Given the description of an element on the screen output the (x, y) to click on. 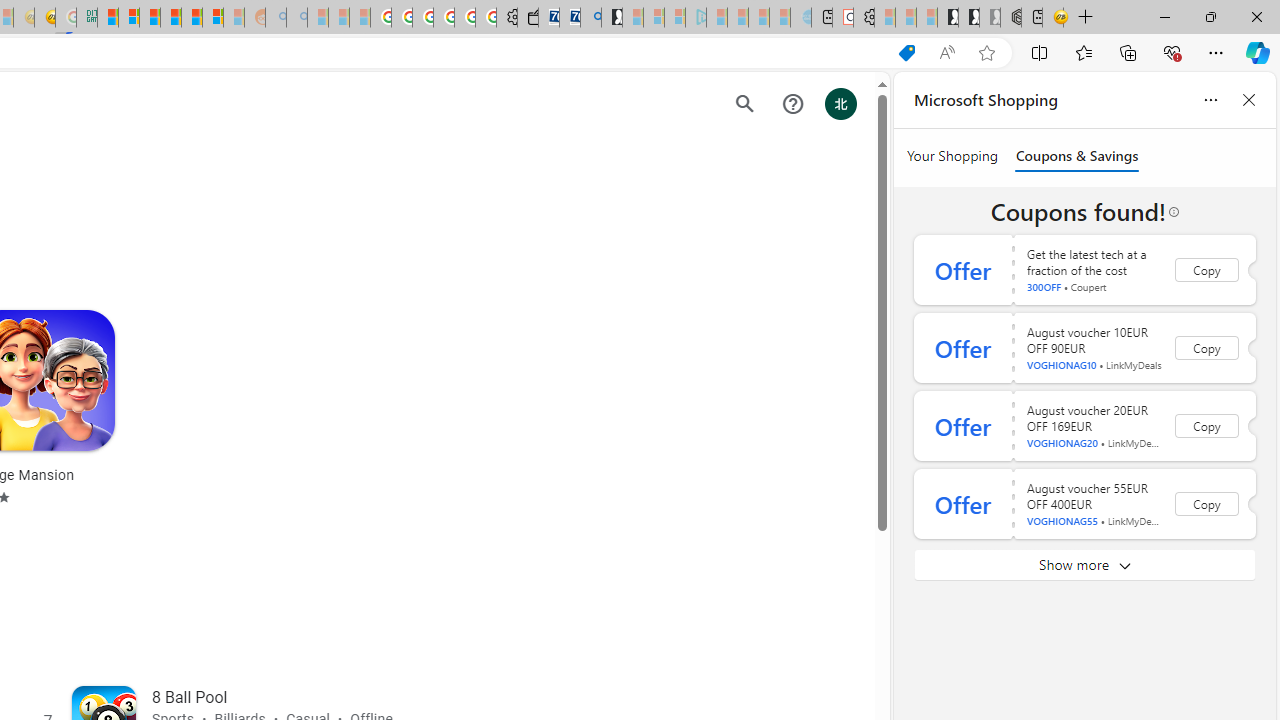
MSNBC - MSN (107, 17)
Microsoft account | Privacy (129, 17)
Expert Portfolios (170, 17)
DITOGAMES AG Imprint (86, 17)
